Given the description of an element on the screen output the (x, y) to click on. 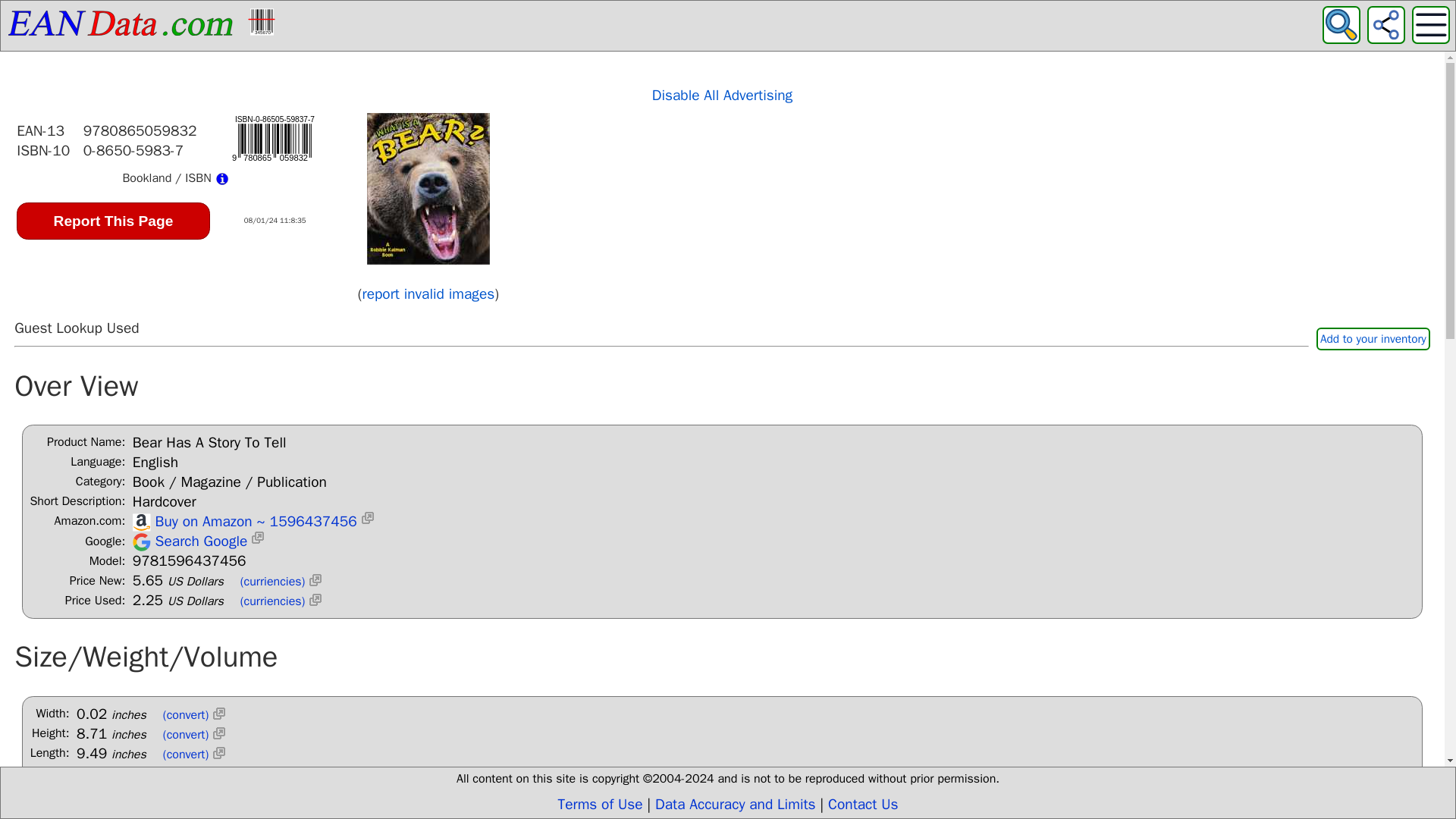
Terms of Use (600, 804)
Disable All Advertising (722, 95)
group rating is half a star from 0 user (1372, 314)
EAN-13 barcode 9780865059832 (274, 137)
Contact Us (863, 804)
Data Accuracy and Limits (735, 804)
Add to your inventory (1372, 338)
report invalid images (428, 294)
Report This Page (112, 220)
Search Google (198, 541)
